Given the description of an element on the screen output the (x, y) to click on. 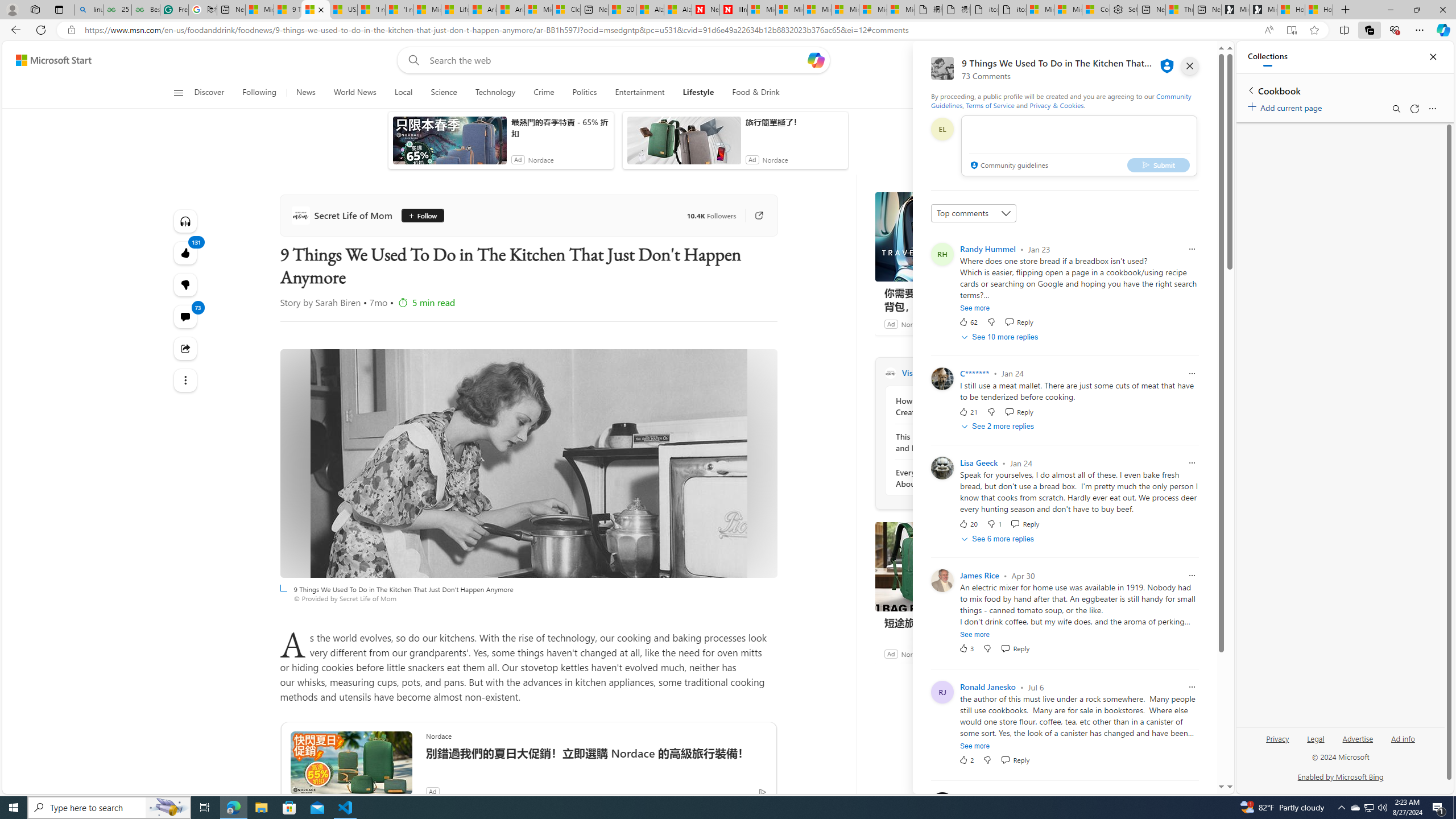
25 Basic Linux Commands For Beginners - GeeksforGeeks (117, 9)
Follow (419, 215)
Randy Hummel (987, 248)
Cloud Computing Services | Microsoft Azure (566, 9)
Visit Secret Life of Mom website (1031, 372)
Sort comments by (973, 212)
